Given the description of an element on the screen output the (x, y) to click on. 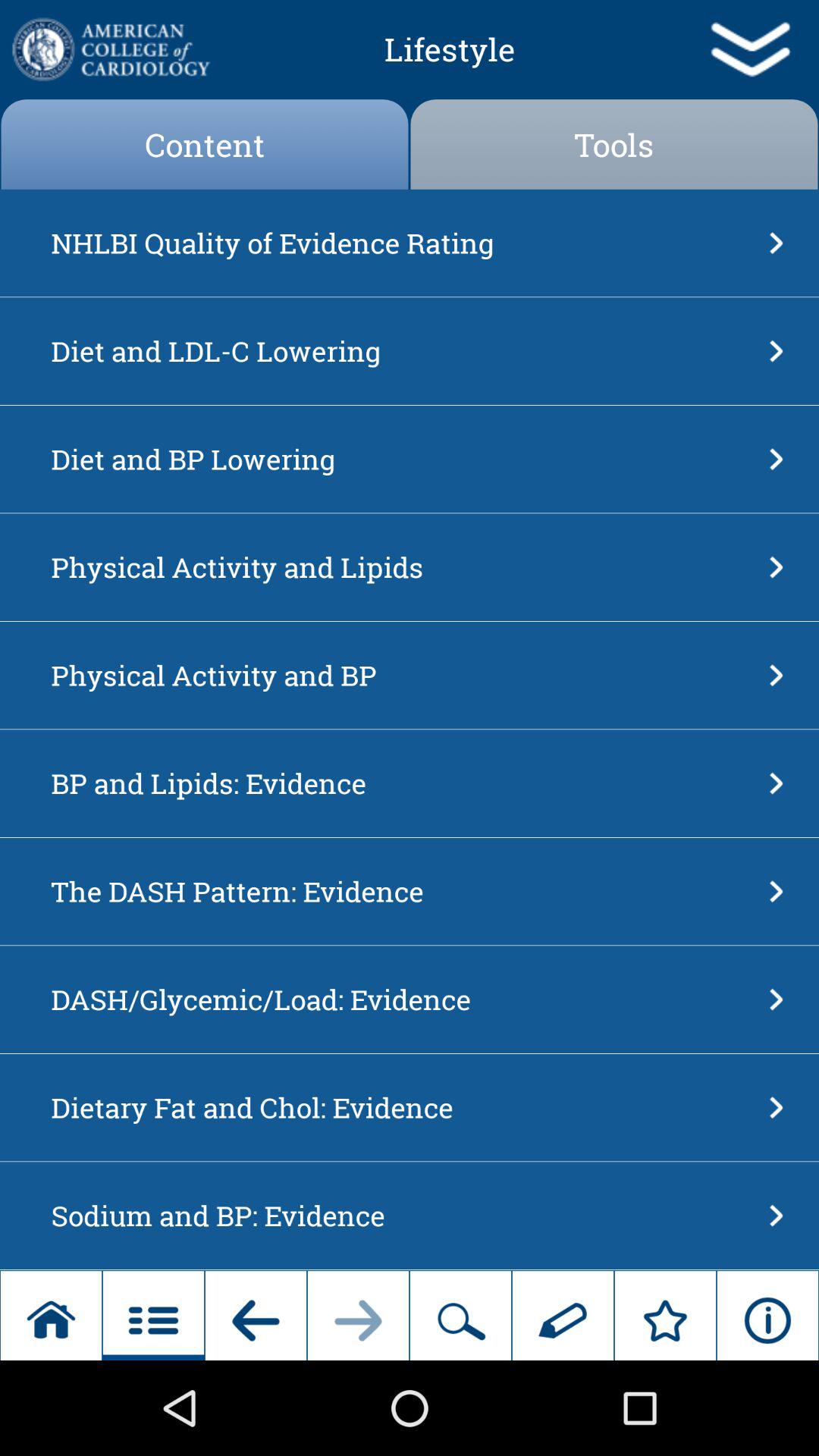
launch icon below content (405, 243)
